Given the description of an element on the screen output the (x, y) to click on. 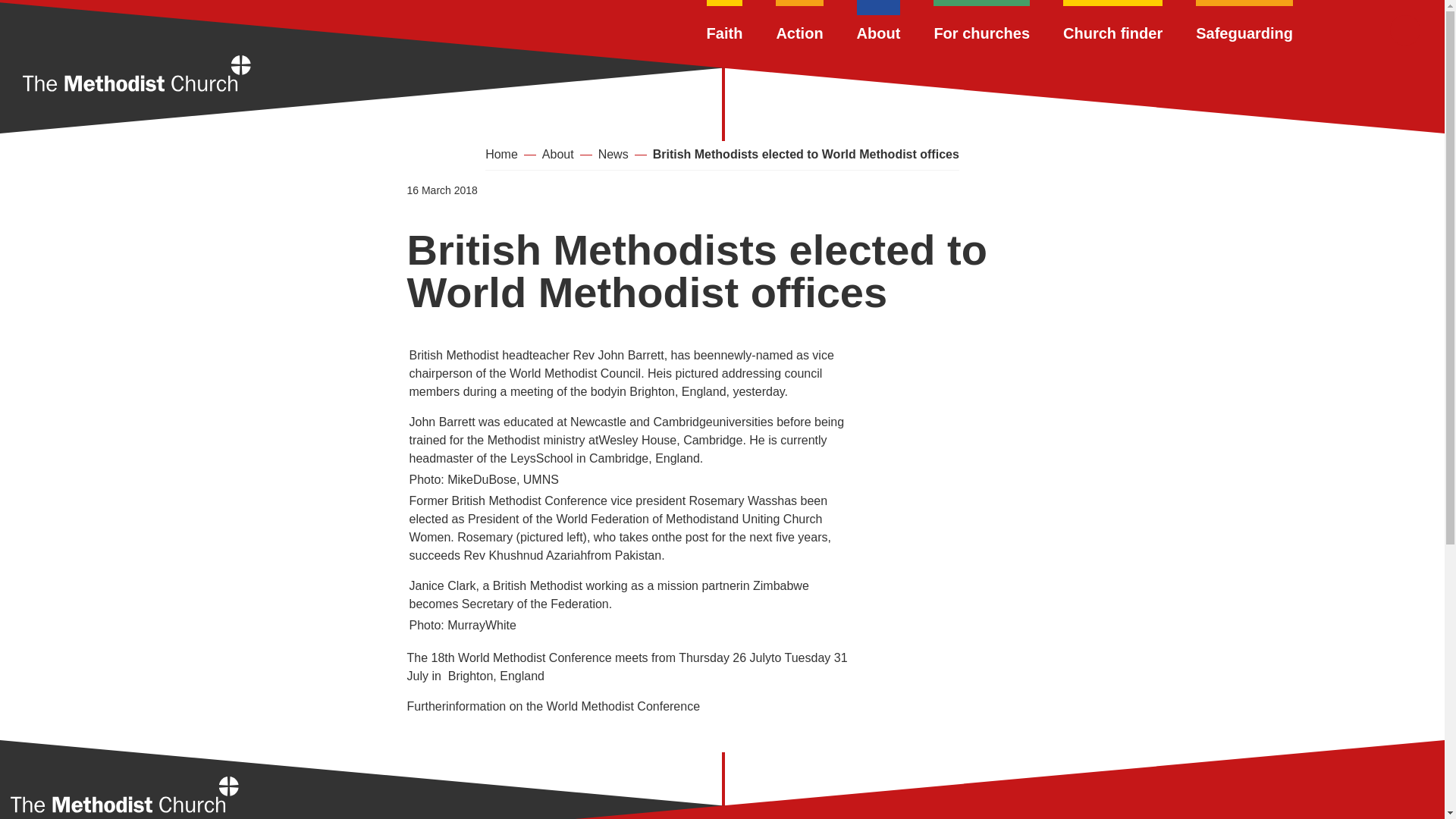
News (613, 154)
About (557, 154)
Church finder (1111, 21)
Home (136, 76)
About (879, 21)
News (613, 154)
Action (799, 21)
British Methodists elected to World Methodist offices (805, 154)
For churches (981, 21)
Home (124, 797)
